Given the description of an element on the screen output the (x, y) to click on. 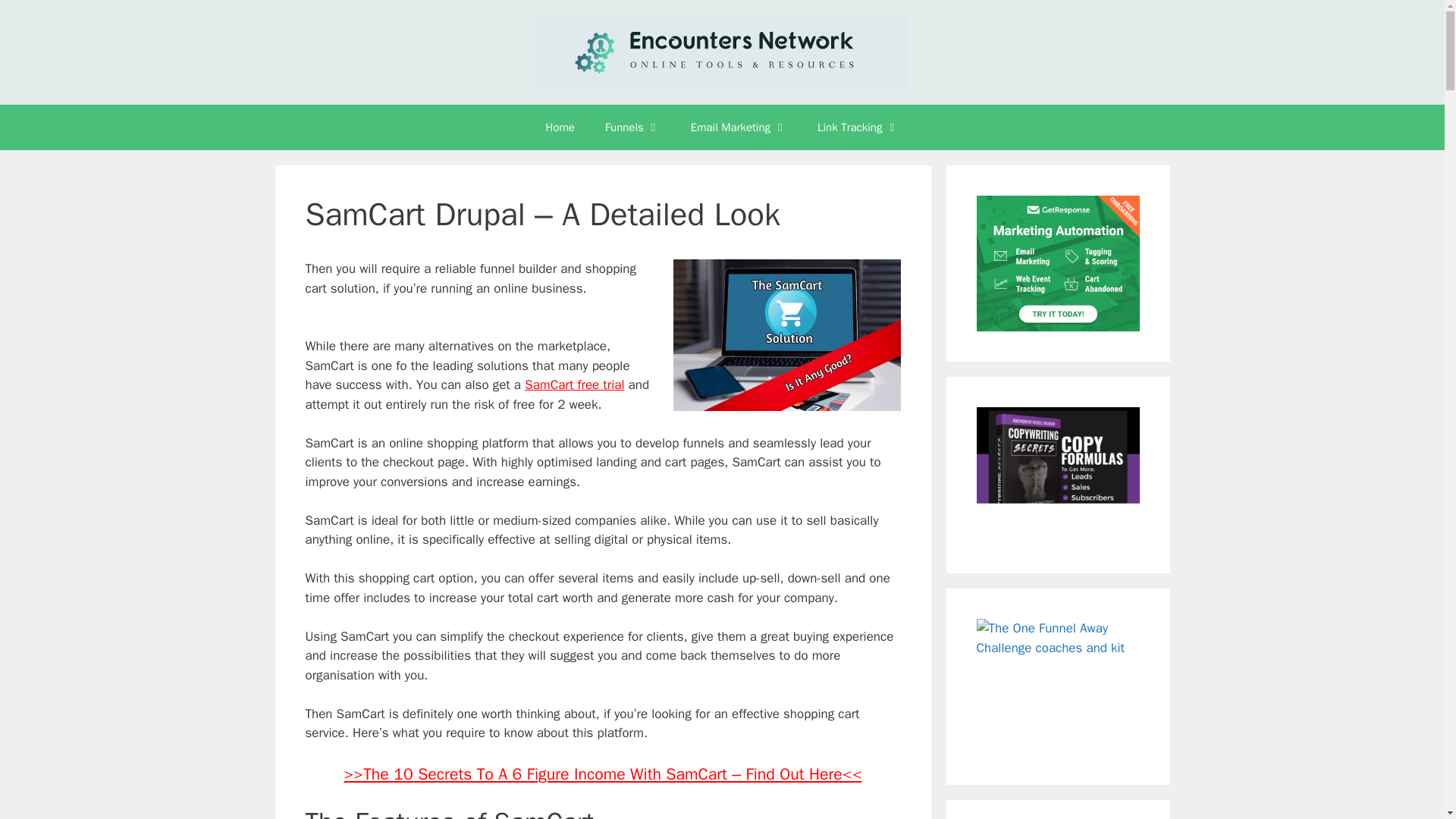
Funnels (632, 126)
Email Marketing (738, 126)
SamCart free trial (574, 384)
Home (560, 126)
Link Tracking (858, 126)
